Given the description of an element on the screen output the (x, y) to click on. 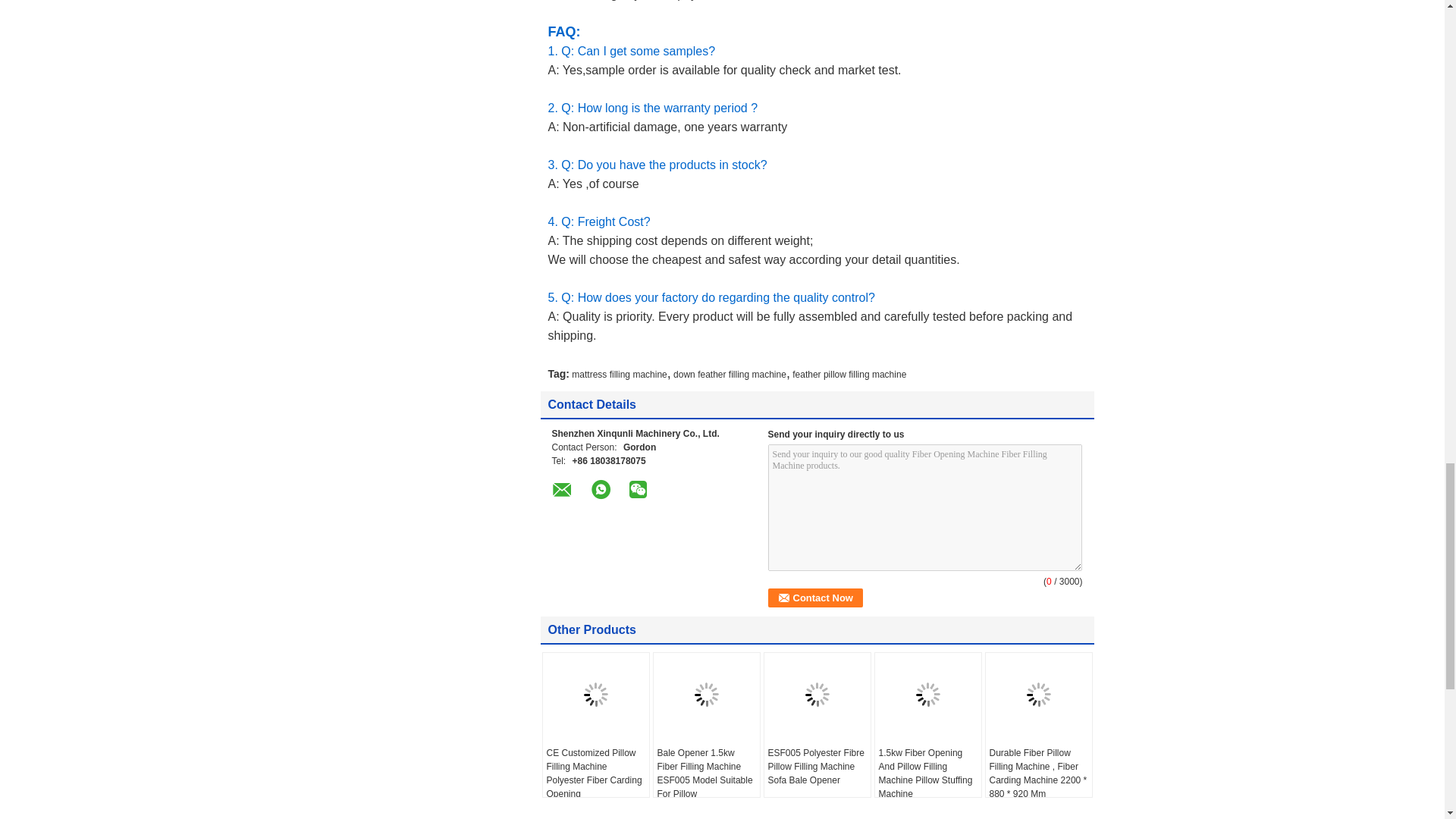
Contact Now (814, 597)
